Given the description of an element on the screen output the (x, y) to click on. 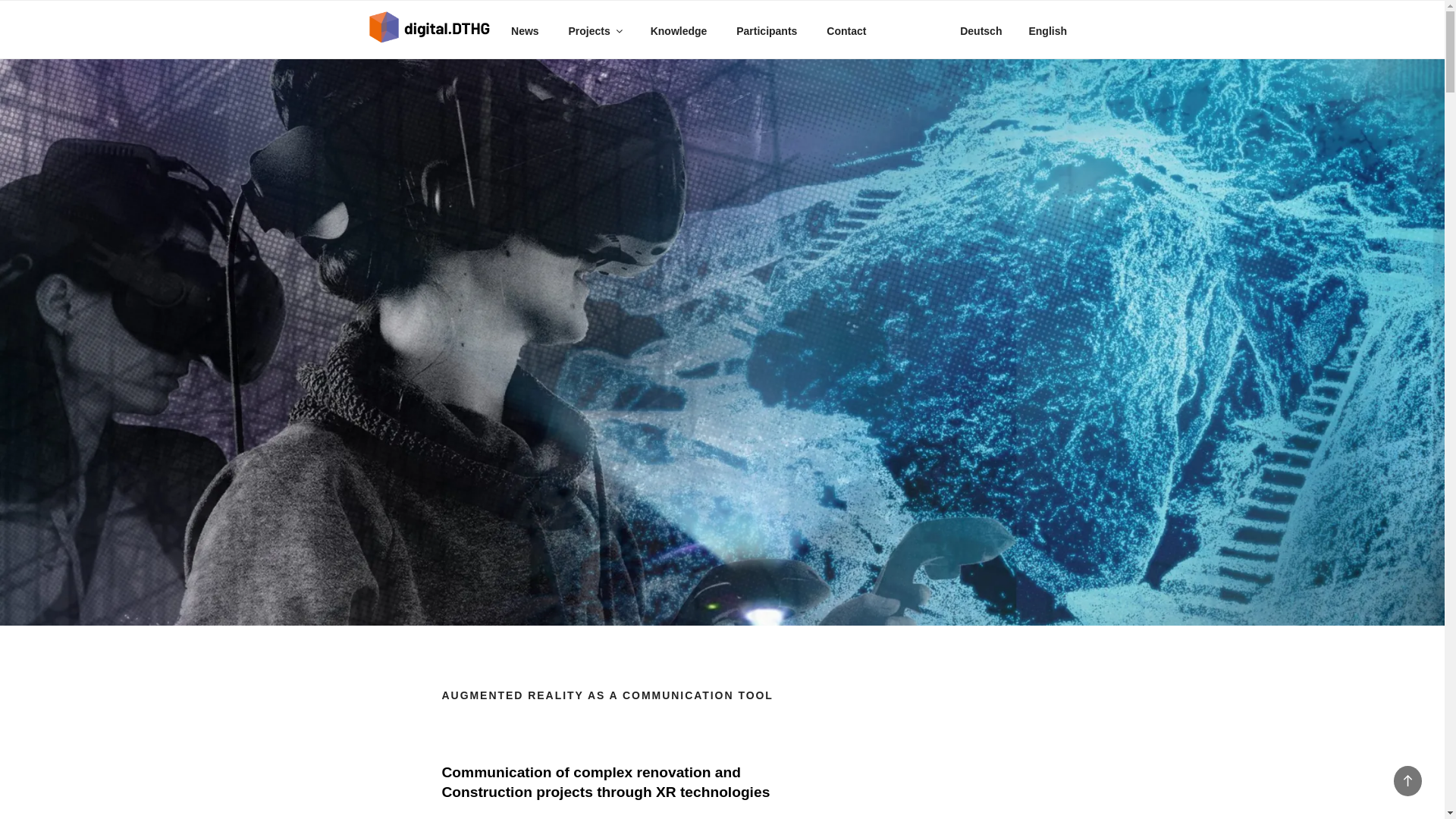
Deutsch (980, 31)
Knowledge (678, 31)
English (1047, 31)
Participants (766, 31)
Contact (846, 31)
Projects (593, 31)
News (525, 31)
